Given the description of an element on the screen output the (x, y) to click on. 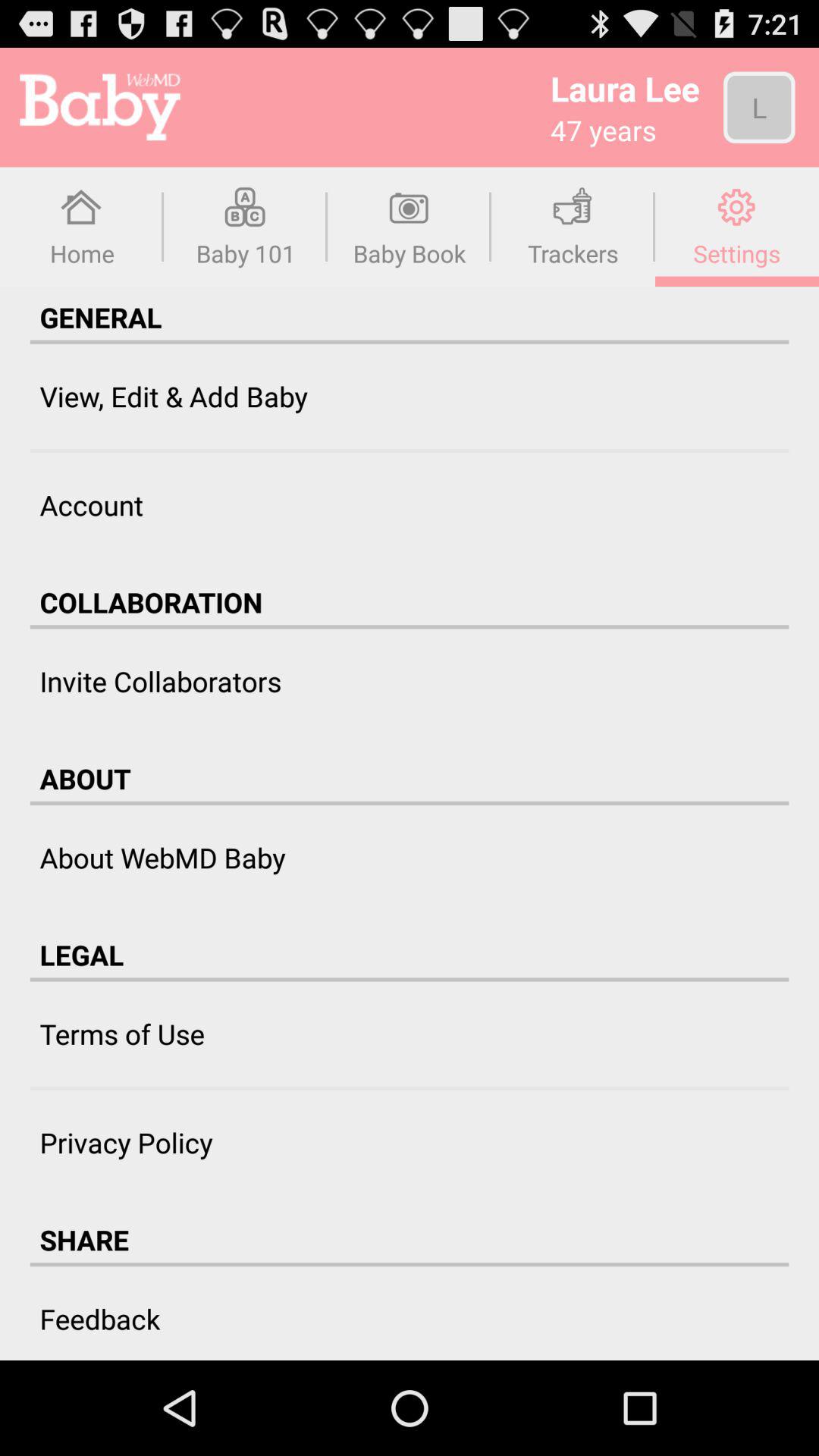
select about webmd baby item (162, 857)
